Given the description of an element on the screen output the (x, y) to click on. 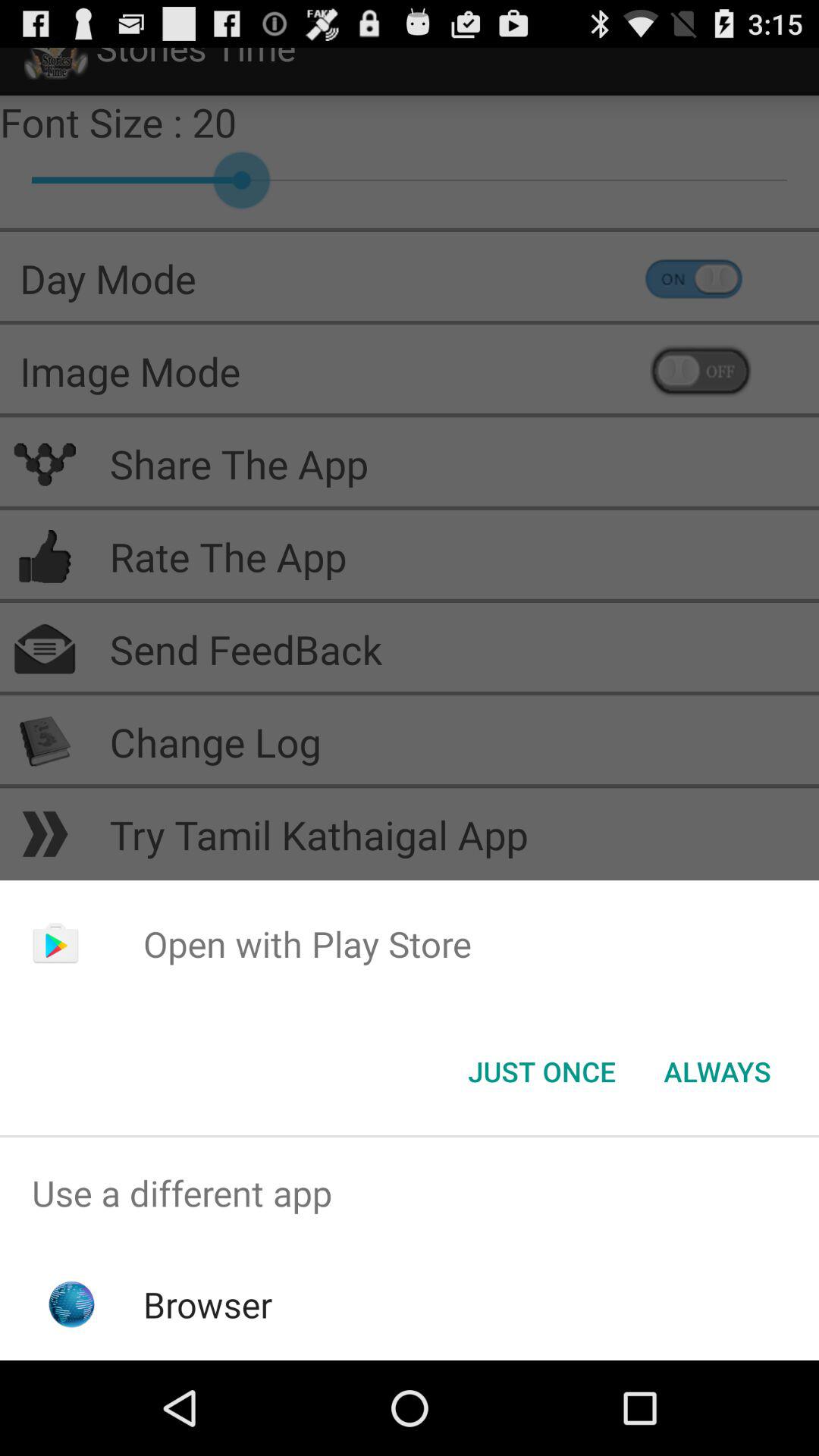
launch icon next to the just once (717, 1071)
